Given the description of an element on the screen output the (x, y) to click on. 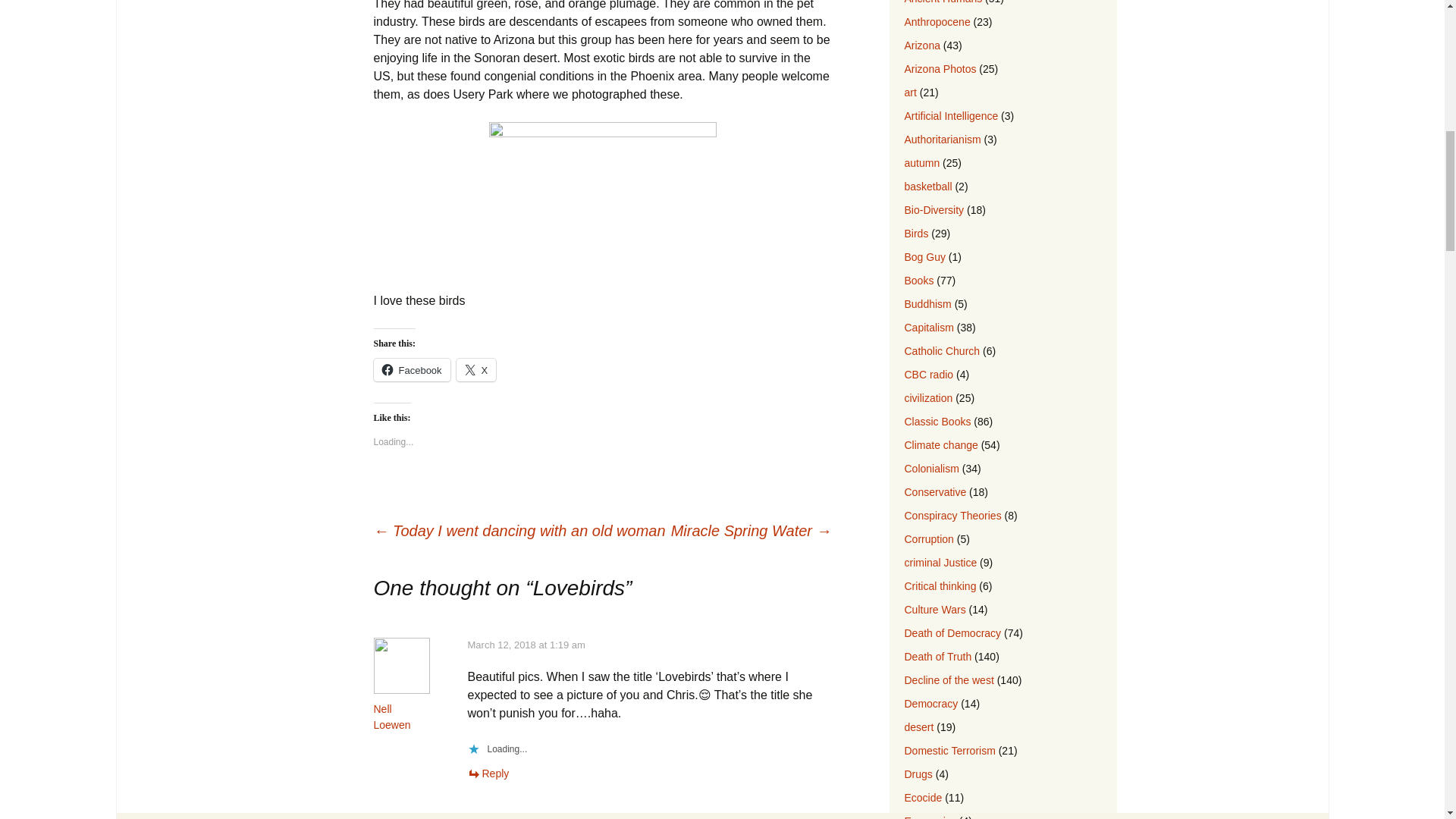
Reply (487, 773)
Facebook (410, 369)
March 12, 2018 at 1:19 am (526, 644)
X (476, 369)
Click to share on X (476, 369)
Click to share on Facebook (410, 369)
